Given the description of an element on the screen output the (x, y) to click on. 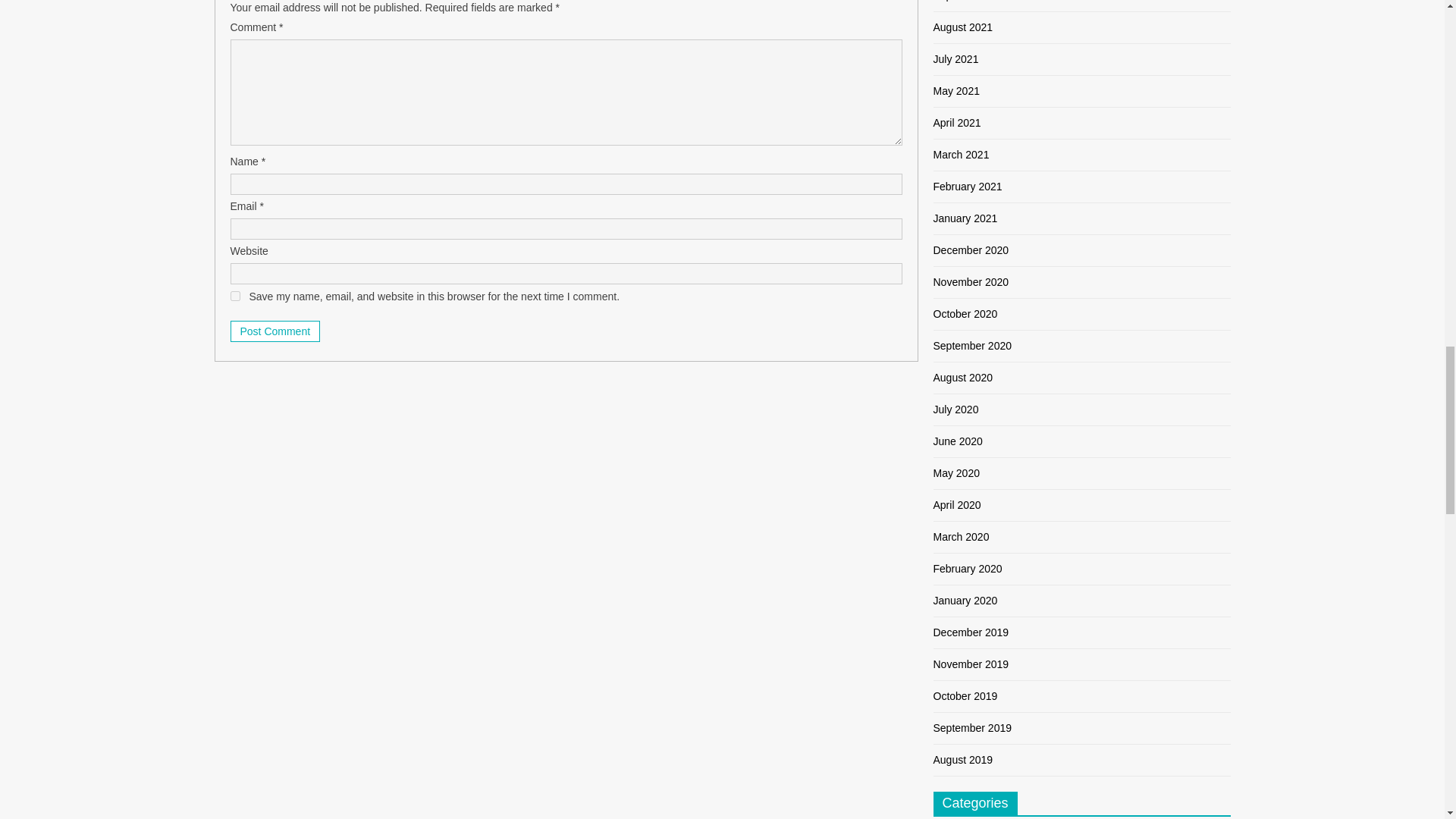
Post Comment (275, 331)
yes (235, 296)
Post Comment (275, 331)
